Given the description of an element on the screen output the (x, y) to click on. 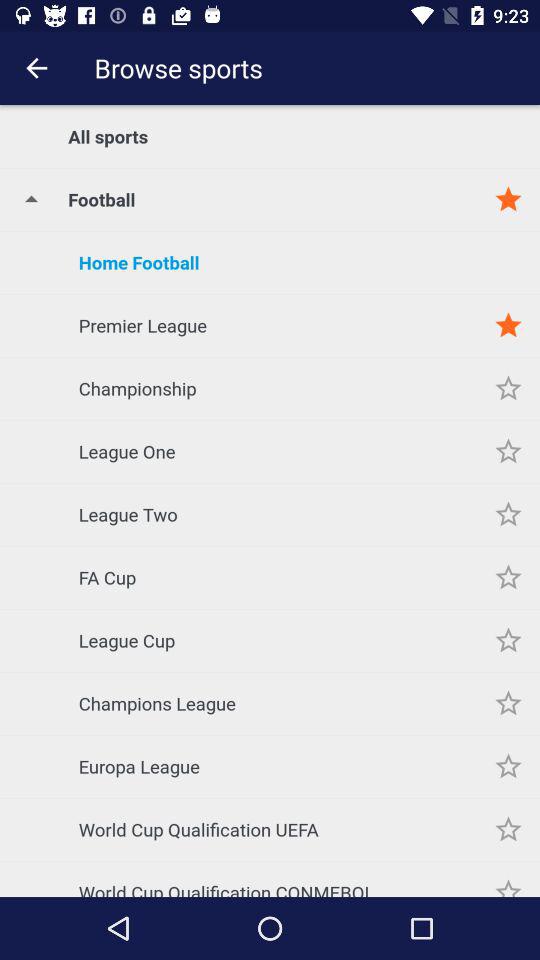
add sport to favorites (508, 829)
